Given the description of an element on the screen output the (x, y) to click on. 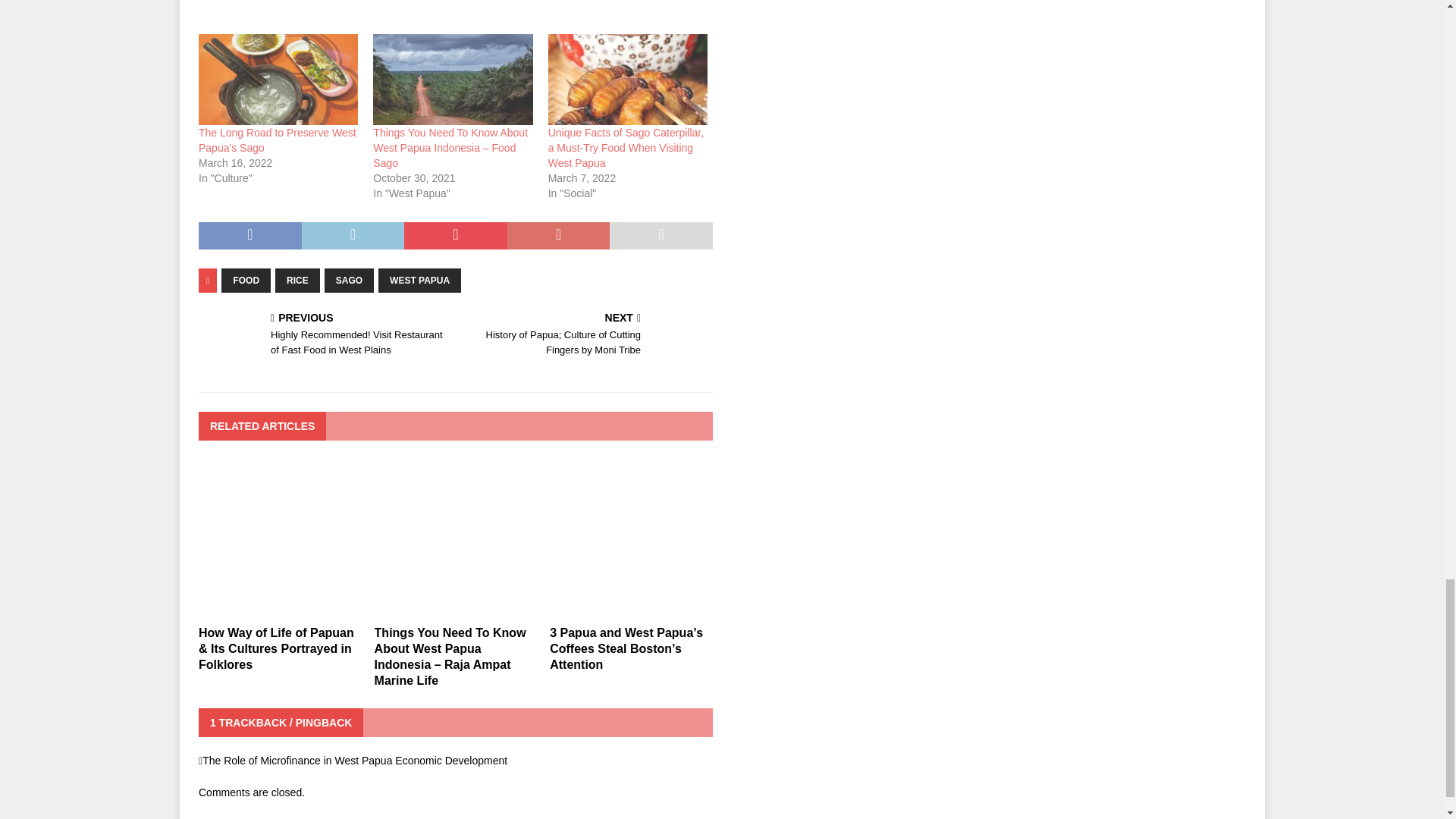
Like or Reblog (455, 6)
The Long Road to Preserve West Papua's Sago (278, 79)
The Long Road to Preserve West Papua's Sago (277, 139)
